Given the description of an element on the screen output the (x, y) to click on. 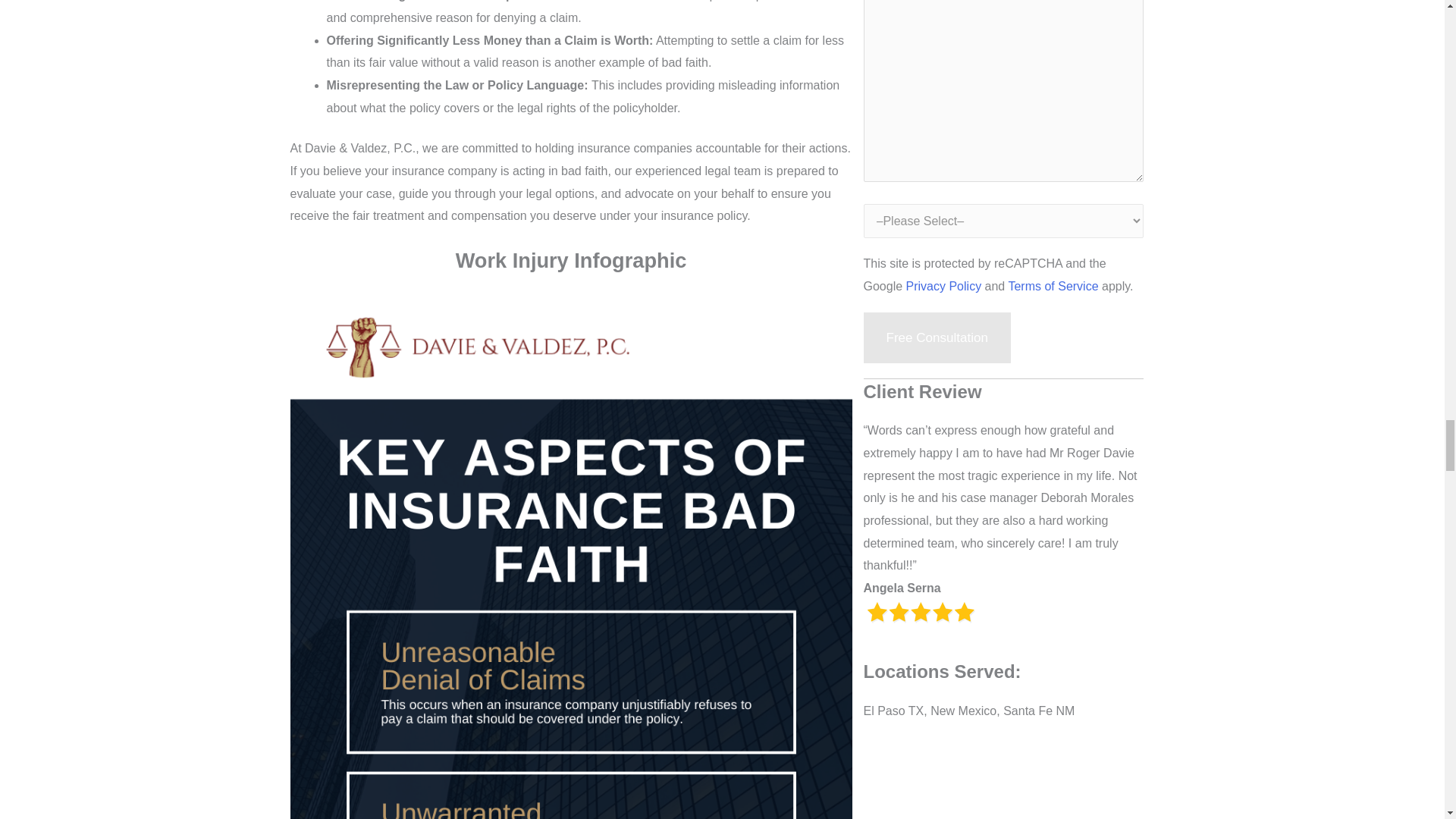
Free Consultation (936, 337)
